Given the description of an element on the screen output the (x, y) to click on. 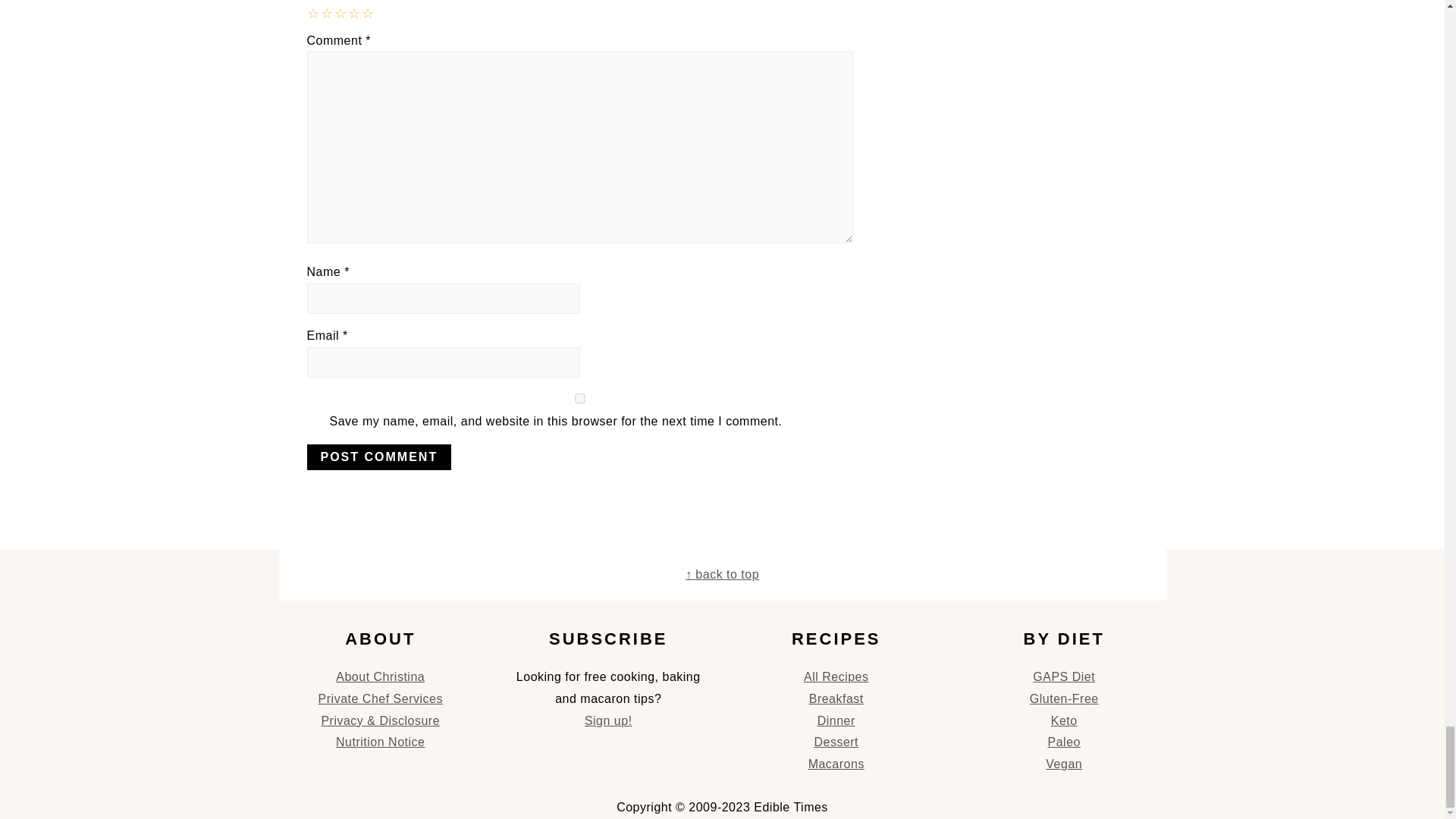
yes (578, 398)
Post Comment (378, 457)
